Given the description of an element on the screen output the (x, y) to click on. 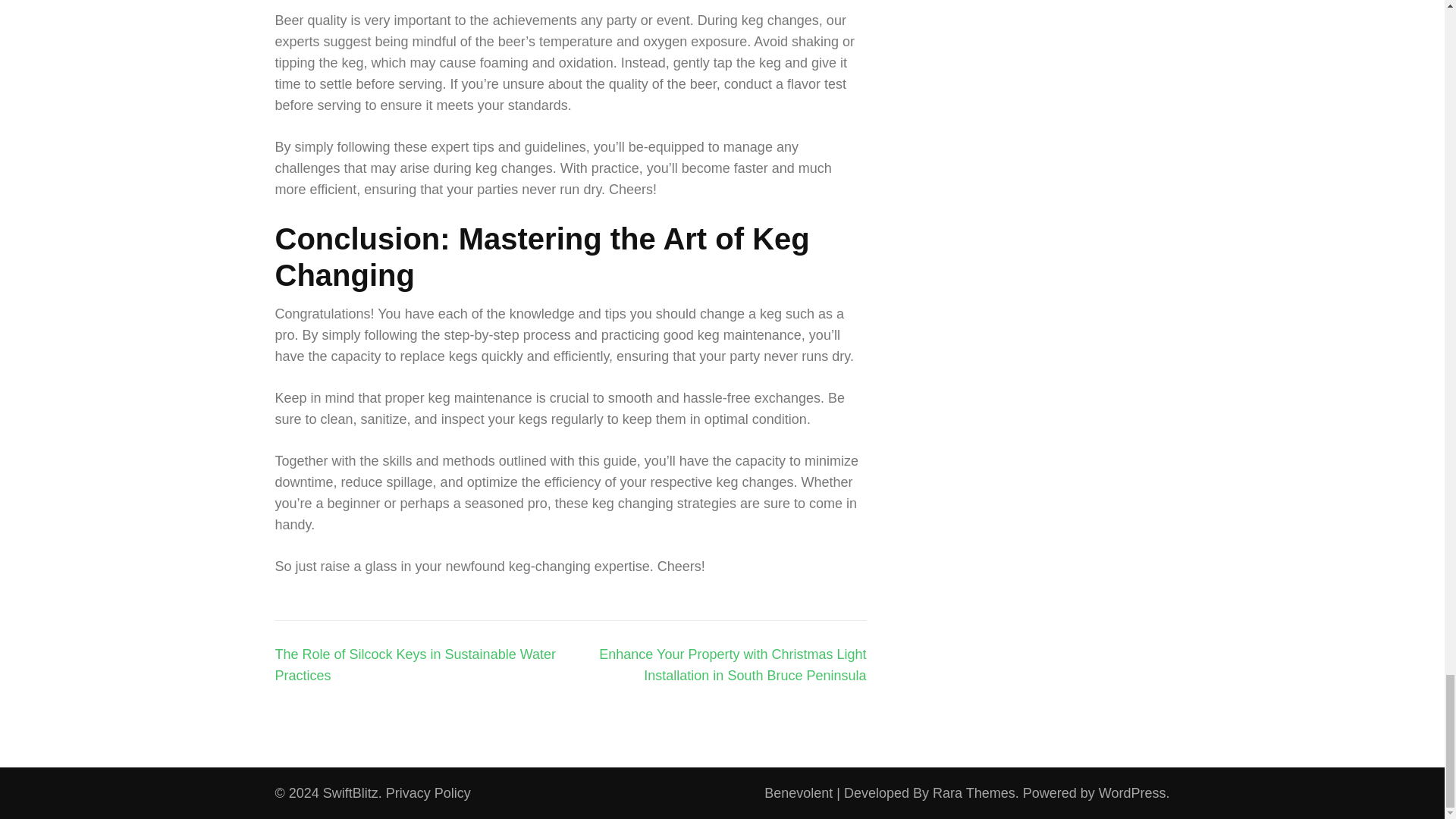
The Role of Silcock Keys in Sustainable Water Practices (415, 665)
